Given the description of an element on the screen output the (x, y) to click on. 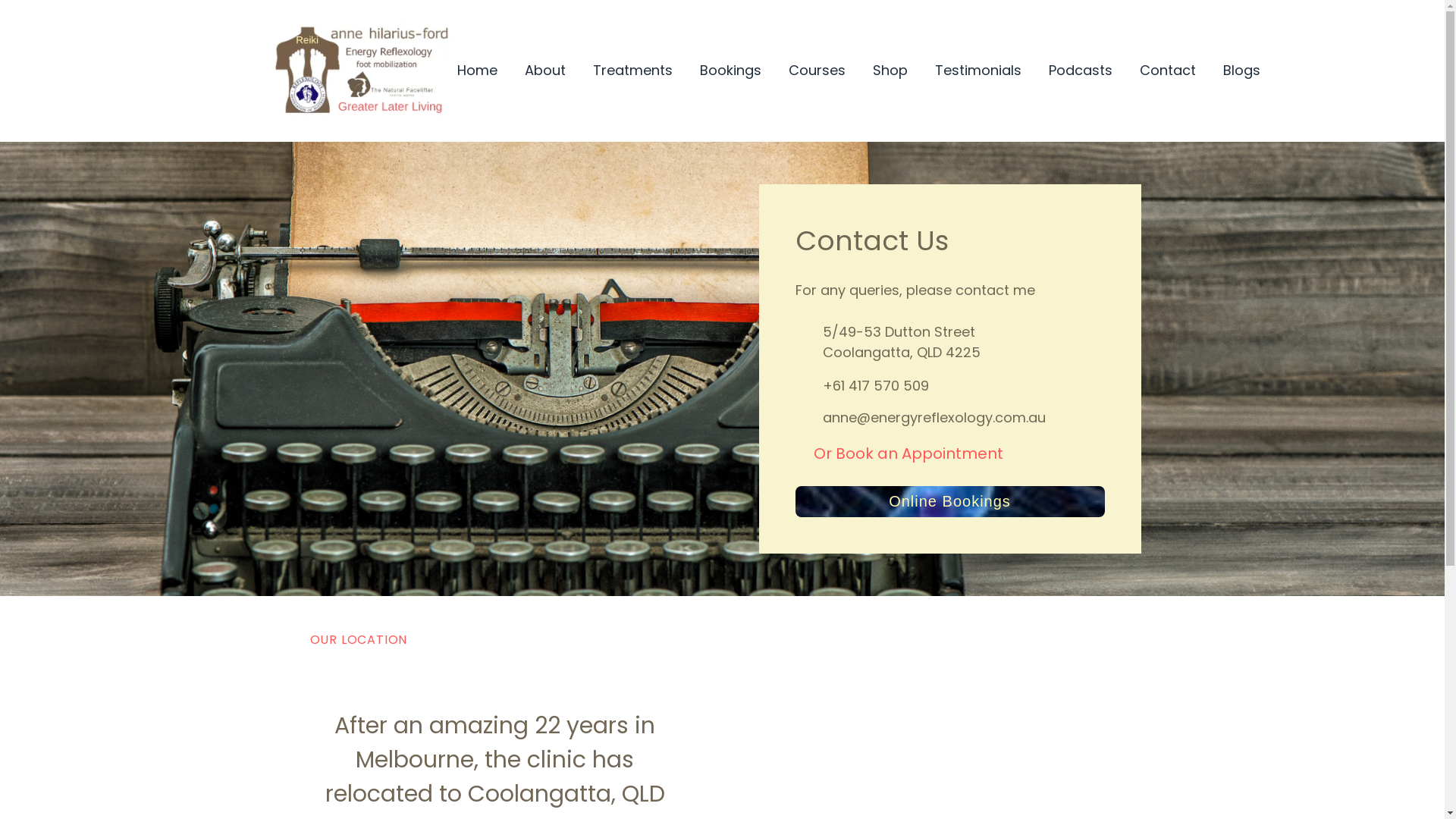
Online Bookings Element type: text (949, 501)
Blogs Element type: text (1240, 70)
Treatments Element type: text (632, 70)
Podcasts Element type: text (1079, 70)
Contact Element type: text (1167, 70)
Testimonials Element type: text (977, 70)
About Element type: text (544, 70)
Bookings Element type: text (729, 70)
Courses Element type: text (816, 70)
Shop Element type: text (889, 70)
Home Element type: text (476, 70)
